Given the description of an element on the screen output the (x, y) to click on. 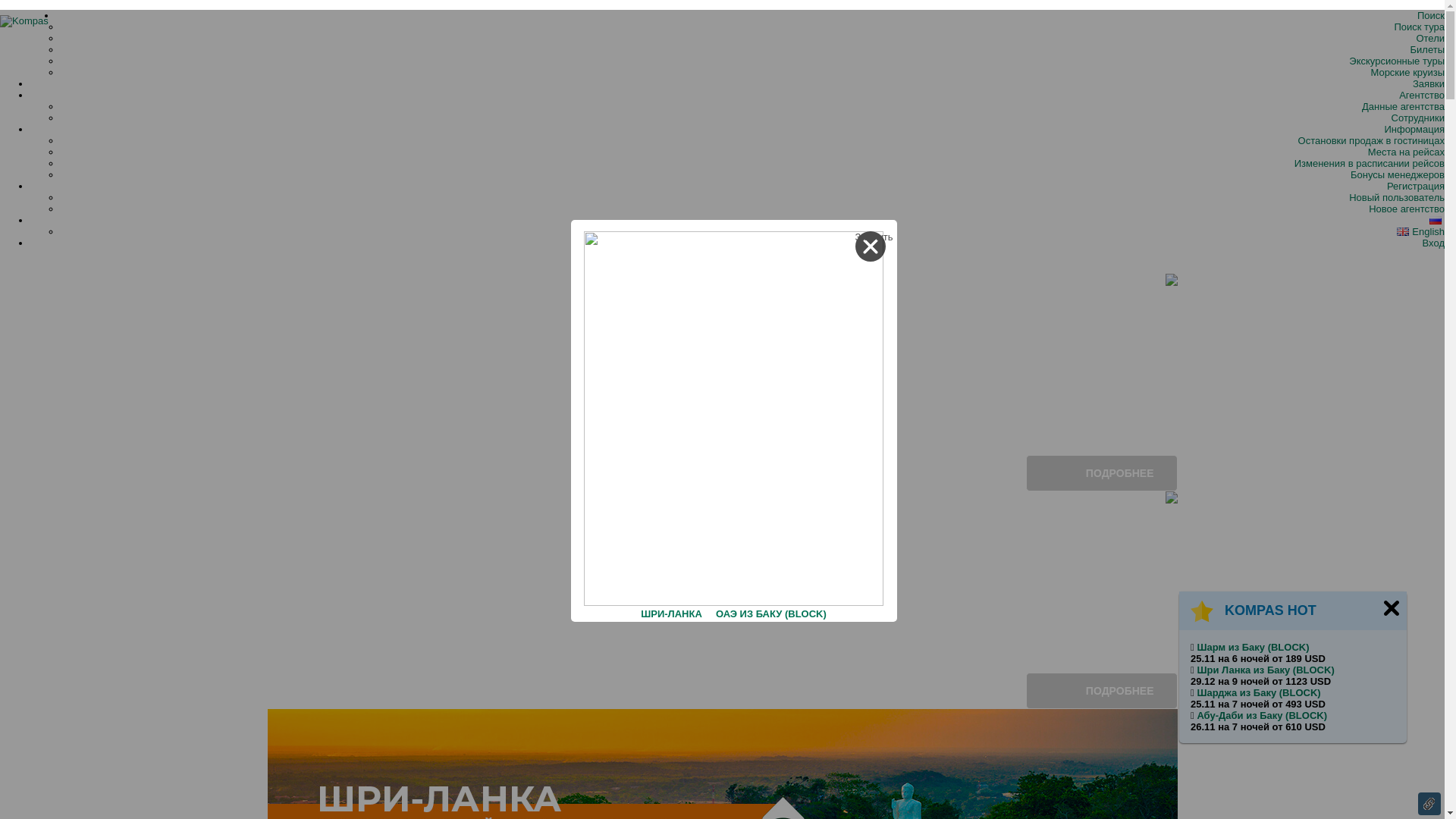
) Element type: text (1318, 692)
English Element type: text (1420, 231)
